Given the description of an element on the screen output the (x, y) to click on. 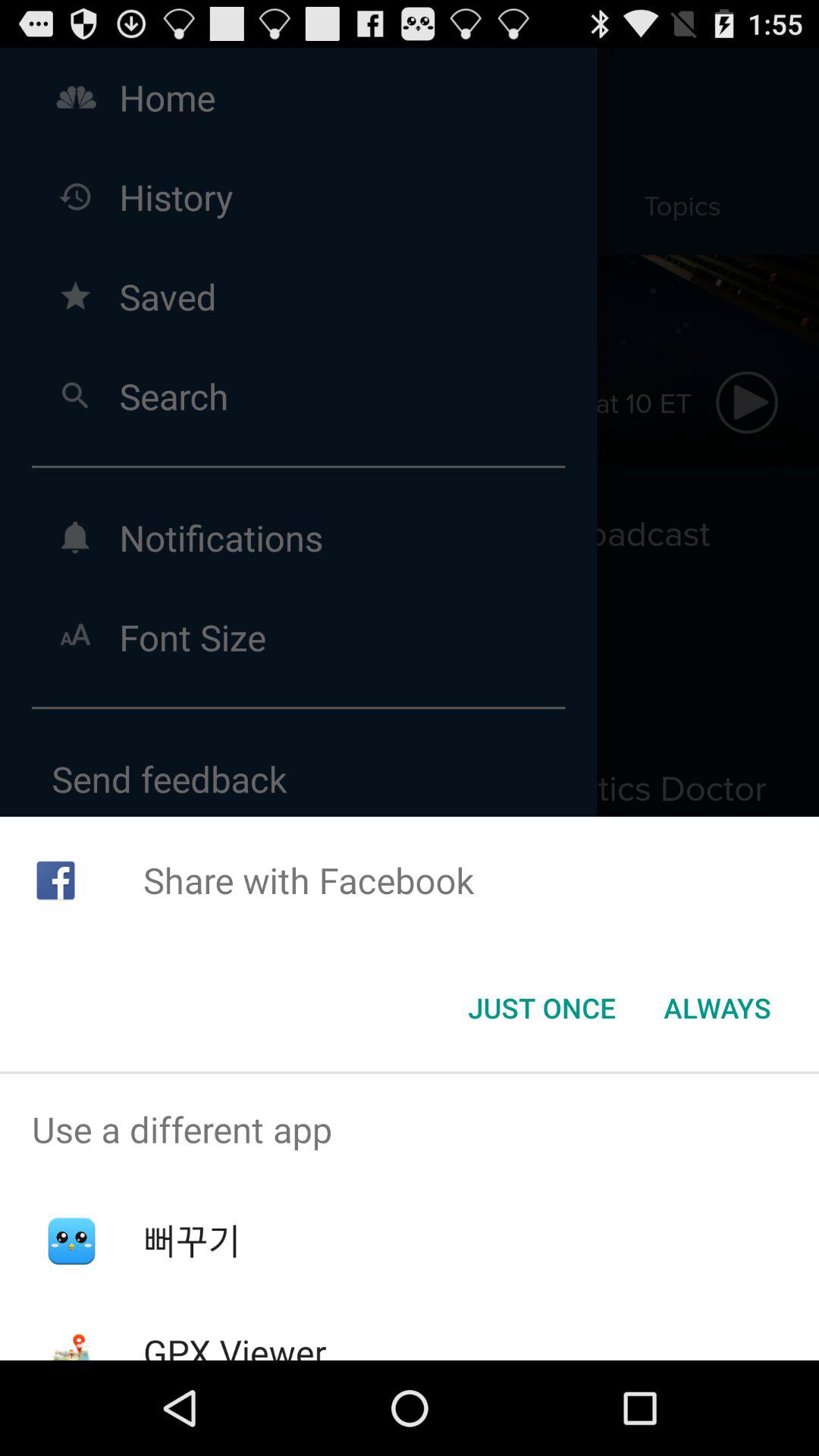
swipe until use a different item (409, 1129)
